Given the description of an element on the screen output the (x, y) to click on. 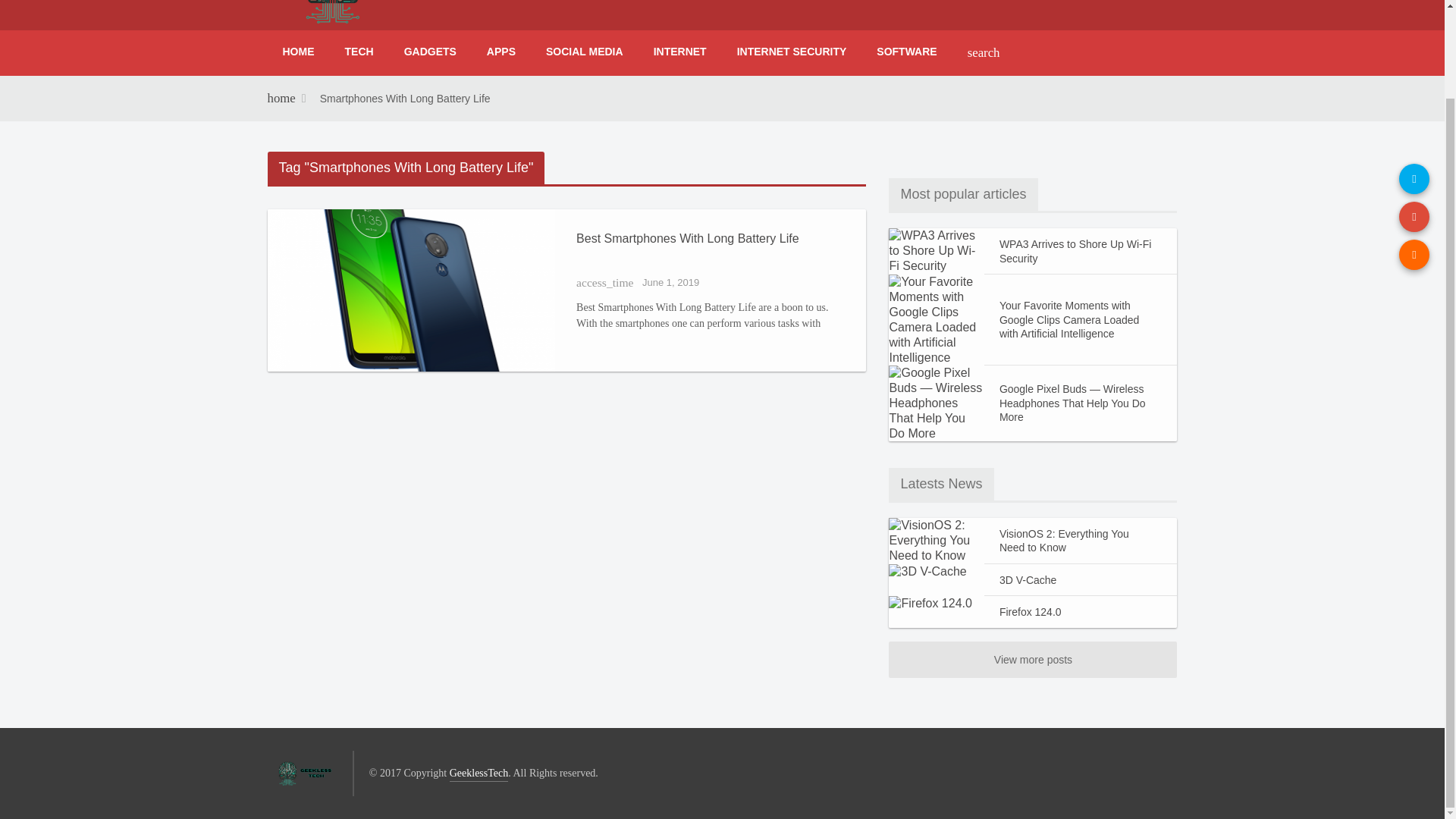
WPA3 Arrives to Shore Up Wi-Fi Security (1080, 250)
search (983, 53)
home (280, 98)
SOCIAL MEDIA (585, 51)
HOME (297, 51)
GADGETS (429, 51)
APPS (501, 51)
SOFTWARE (906, 51)
TECH (358, 51)
